Given the description of an element on the screen output the (x, y) to click on. 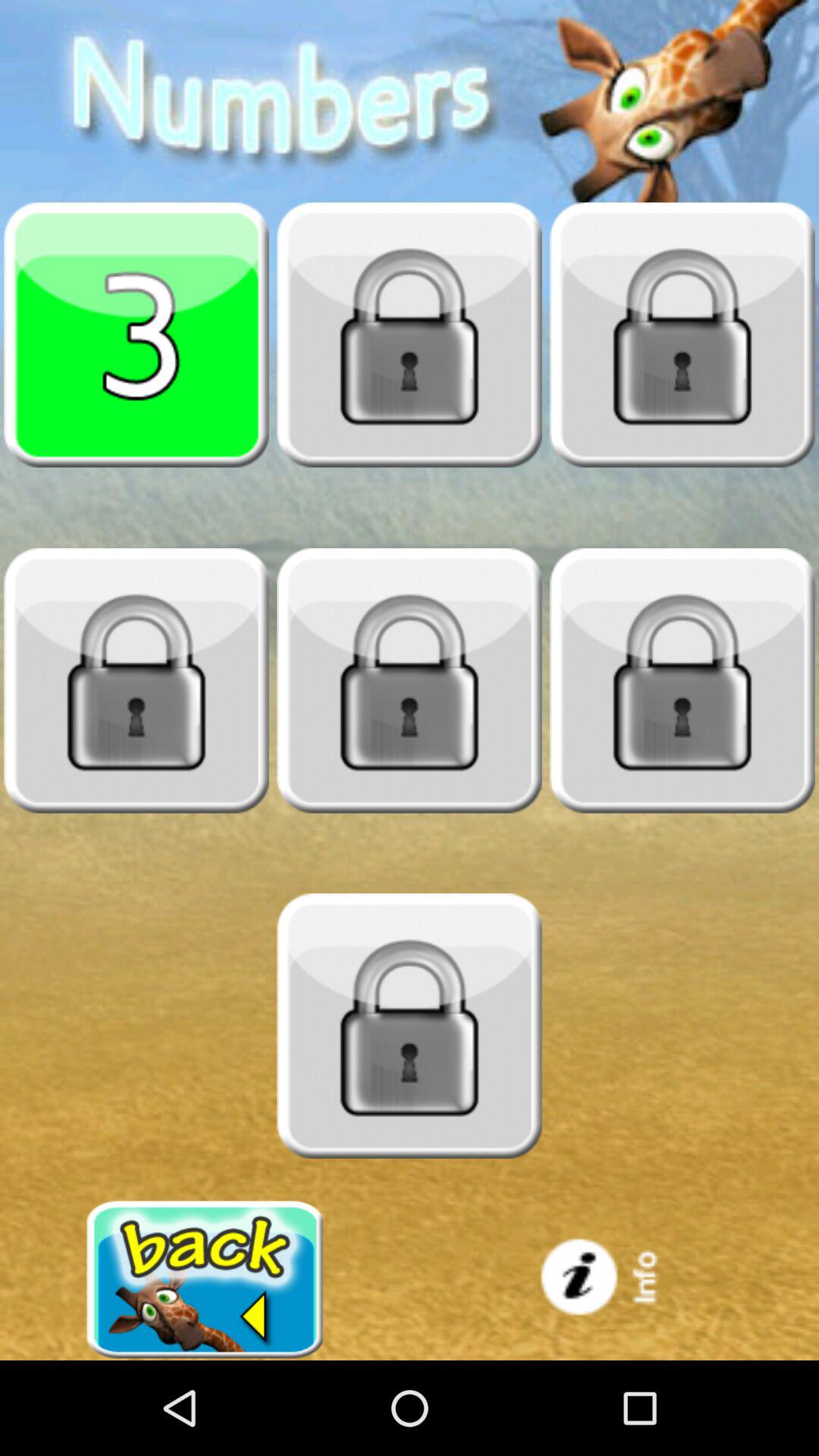
choose selection (136, 334)
